Given the description of an element on the screen output the (x, y) to click on. 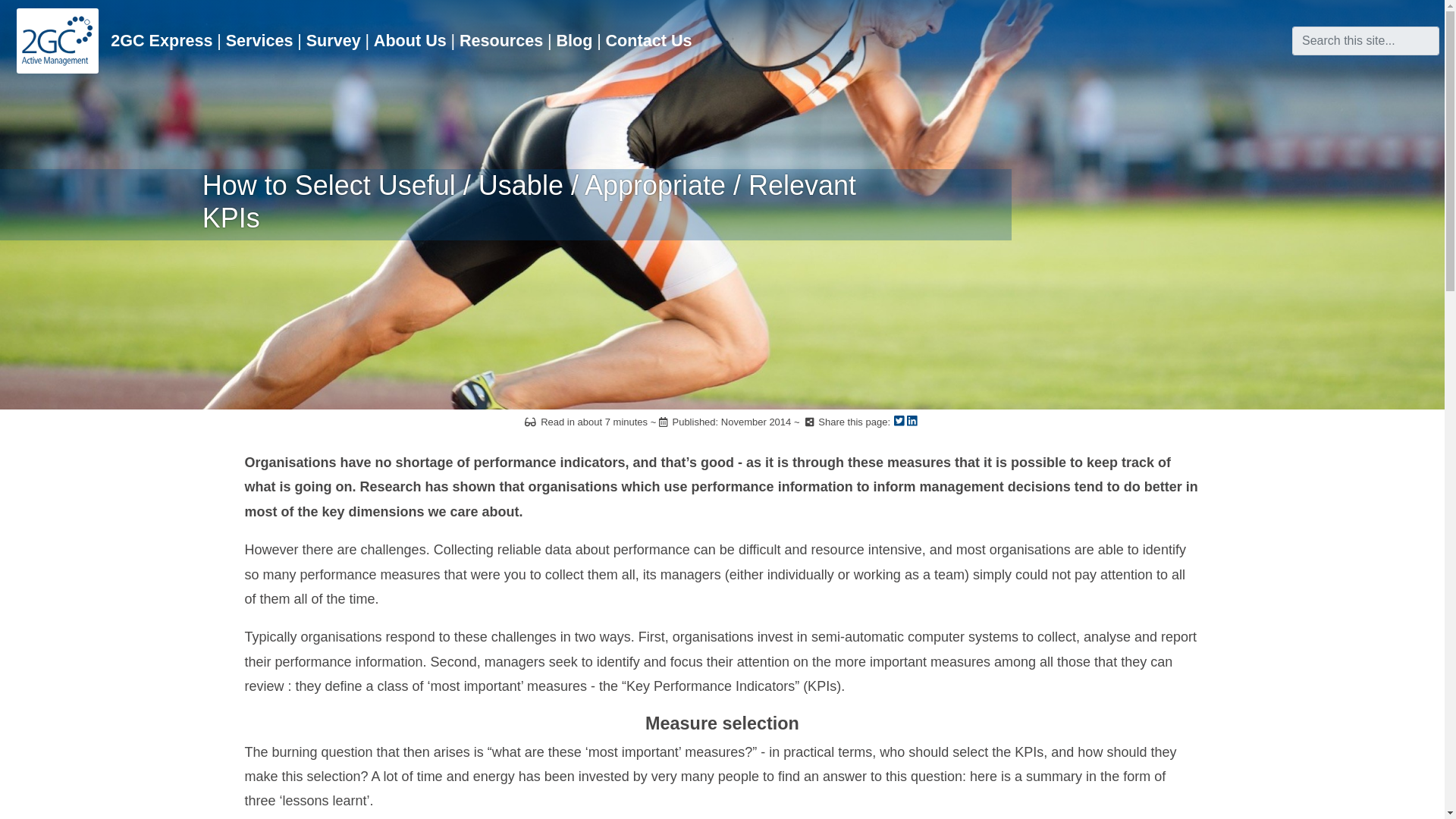
Blog (573, 42)
About Us (409, 42)
Survey (333, 42)
Resources (500, 42)
2GC Express (161, 42)
Contact Us (648, 42)
Services (259, 42)
